Given the description of an element on the screen output the (x, y) to click on. 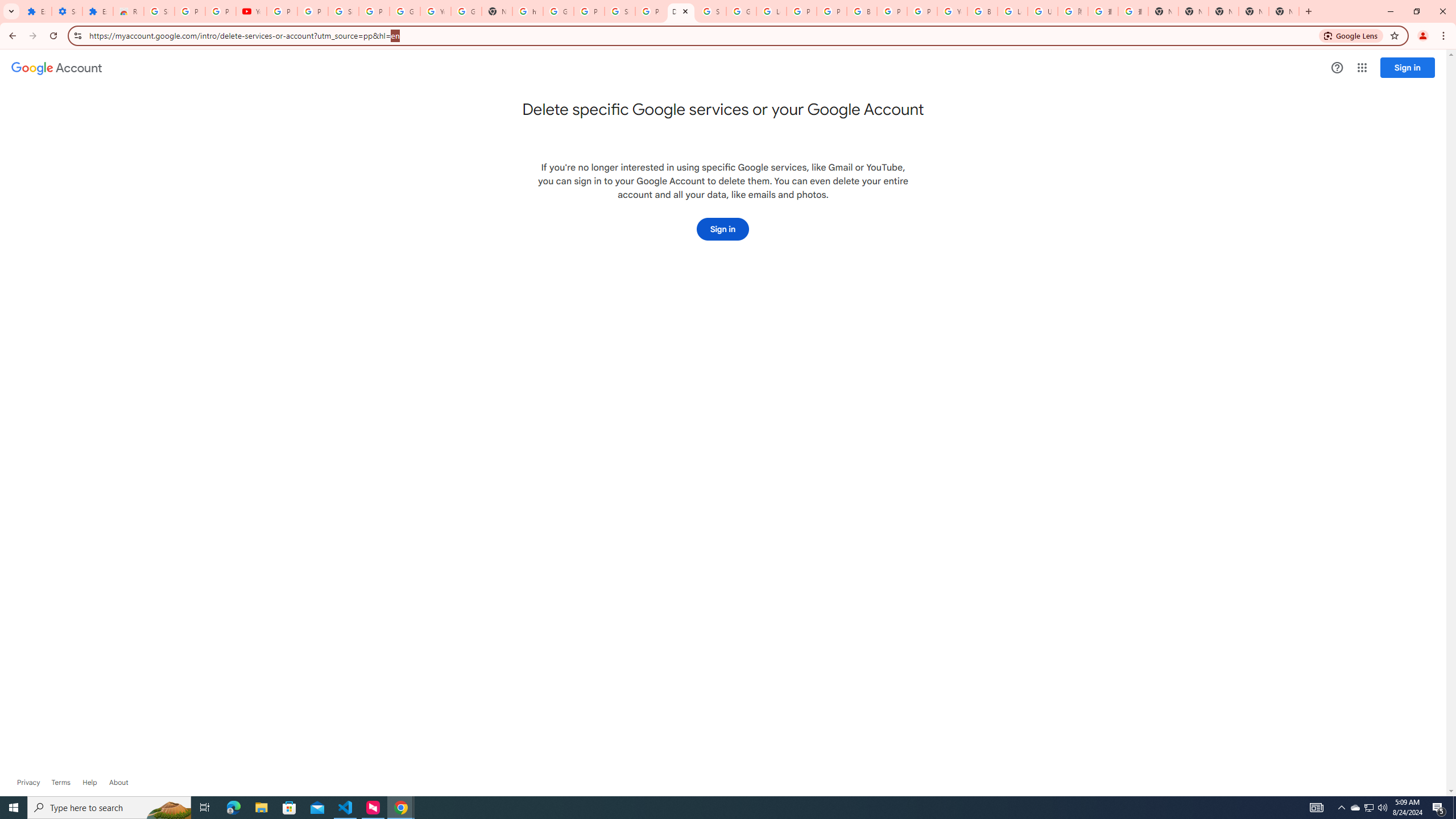
Sign in - Google Accounts (158, 11)
YouTube (434, 11)
Help (89, 782)
Sign in - Google Accounts (710, 11)
New Tab (1162, 11)
